Given the description of an element on the screen output the (x, y) to click on. 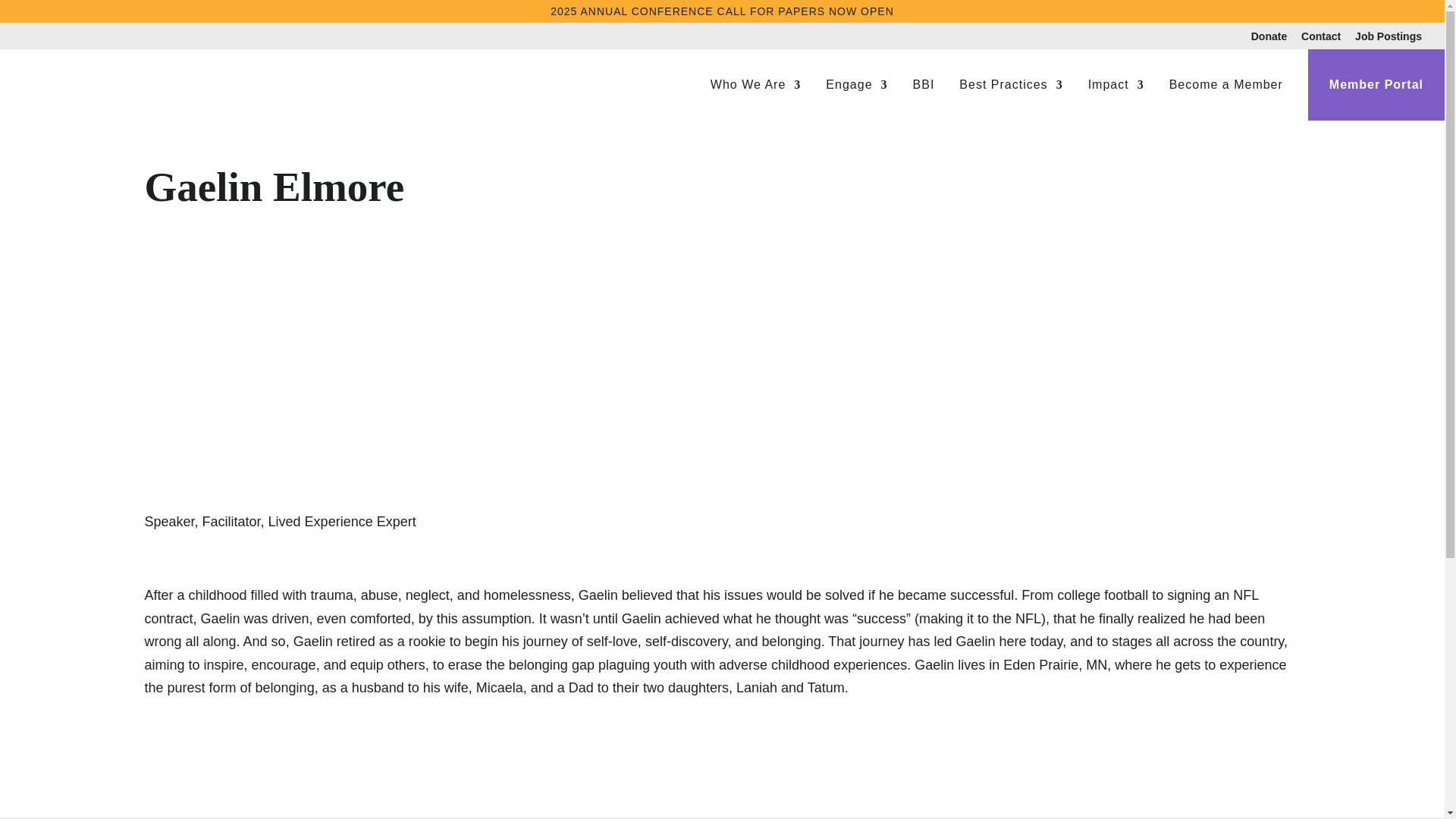
Engage (855, 99)
Job Postings (1388, 39)
Member Portal (1376, 99)
Best Practices (1010, 99)
Become a Member (1225, 99)
Contact (1320, 39)
Donate (1268, 39)
2025 ANNUAL CONFERENCE CALL FOR PAPERS NOW OPEN (721, 10)
Who We Are (756, 99)
Impact (1115, 99)
